Given the description of an element on the screen output the (x, y) to click on. 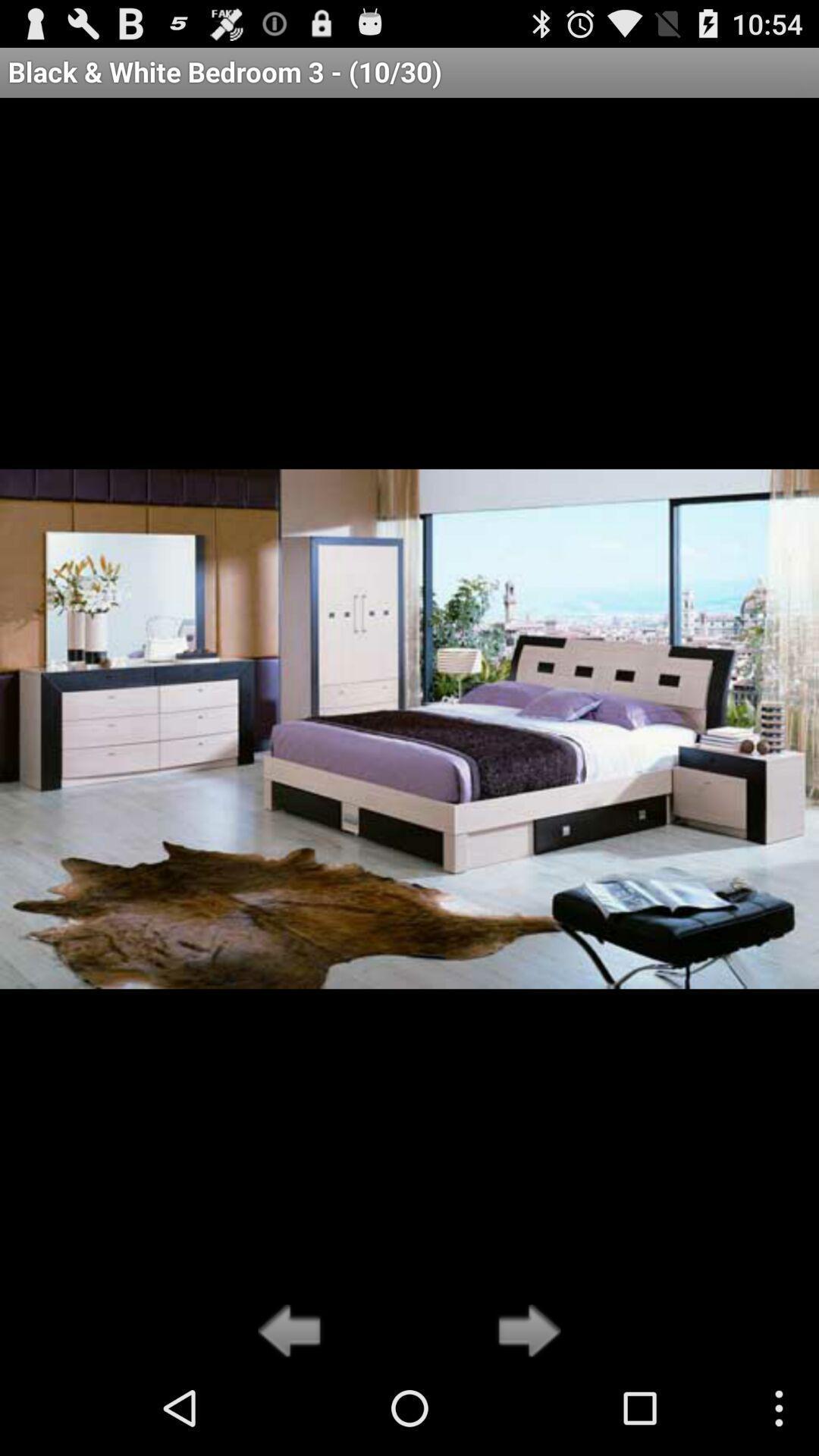
next picture (524, 1332)
